Given the description of an element on the screen output the (x, y) to click on. 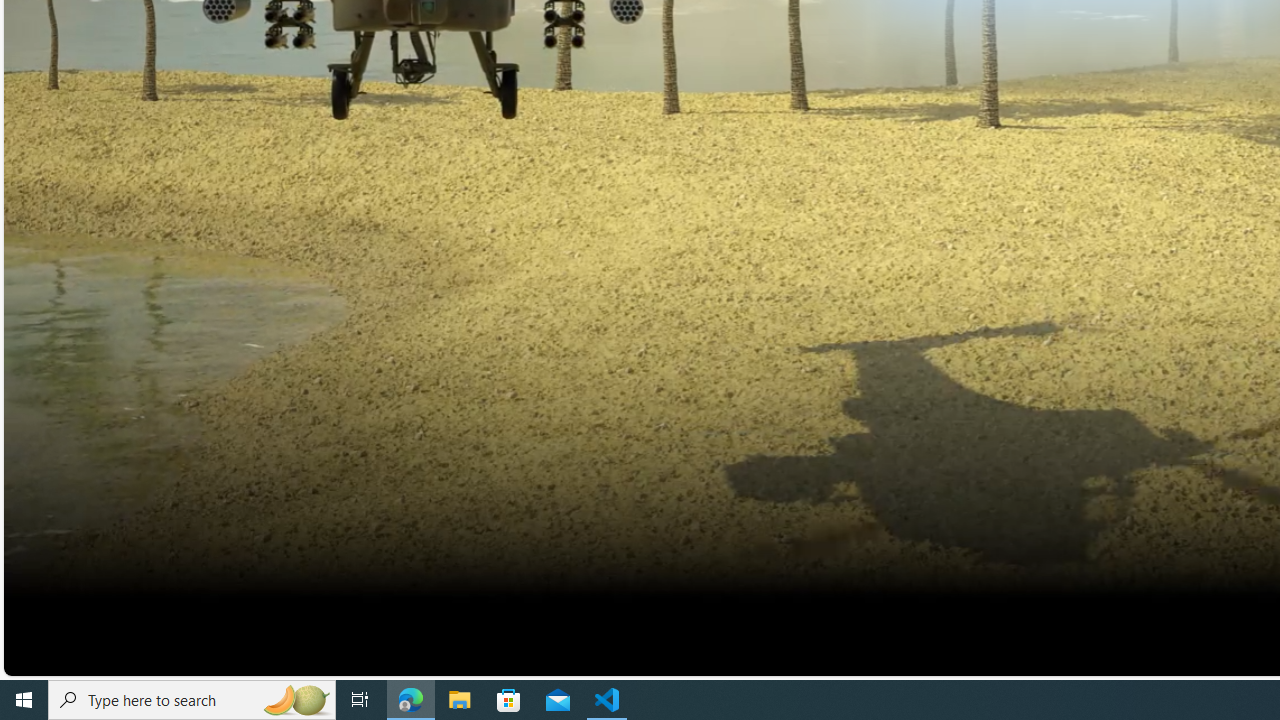
PRIVACY (949, 617)
SUPPORT (1015, 617)
Navy Quest Game (1171, 617)
LOGIN (1079, 650)
IMPRINT (1081, 617)
Terms (1254, 617)
